Given the description of an element on the screen output the (x, y) to click on. 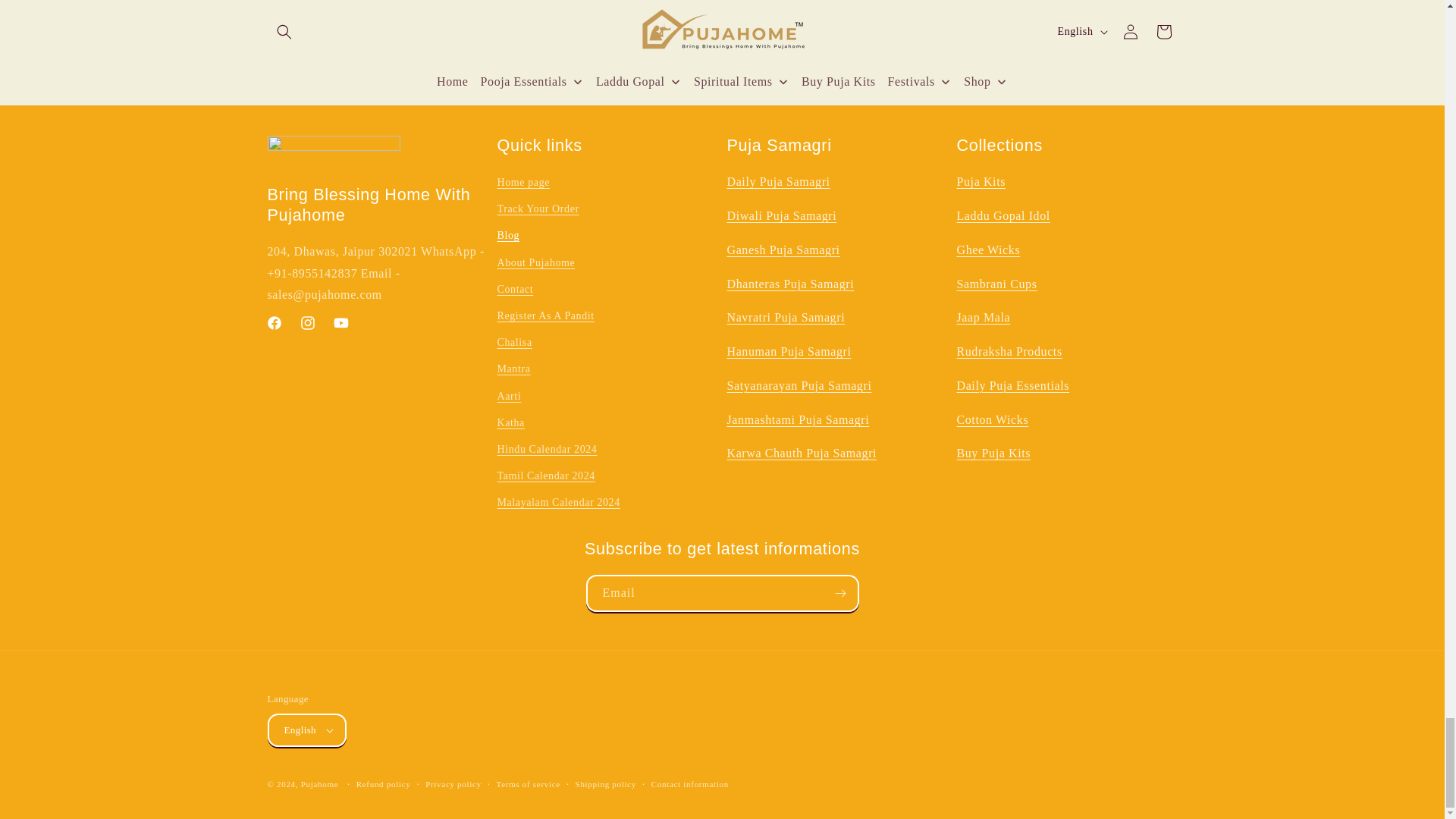
Rudraksh Products (1009, 350)
Sambrani Cups (996, 283)
Hanuman Puja Samagri (788, 350)
Buy Puja Kits (993, 452)
Laddu Gopal Idol (1002, 215)
Jap Malas (983, 317)
Daily Pooja Items Online (777, 181)
Navratri Puja Samagri (785, 317)
Satyanarayan Puja Samagri (798, 385)
Karwa Chauth Puja Samagri (801, 452)
Diwali Puja Samagri (780, 215)
Buy Puja Kits (981, 181)
Ghee Wicks (988, 249)
Dhanteras Puja Samagri (789, 283)
Krishna Janmashtami Puja Samagri (797, 419)
